Given the description of an element on the screen output the (x, y) to click on. 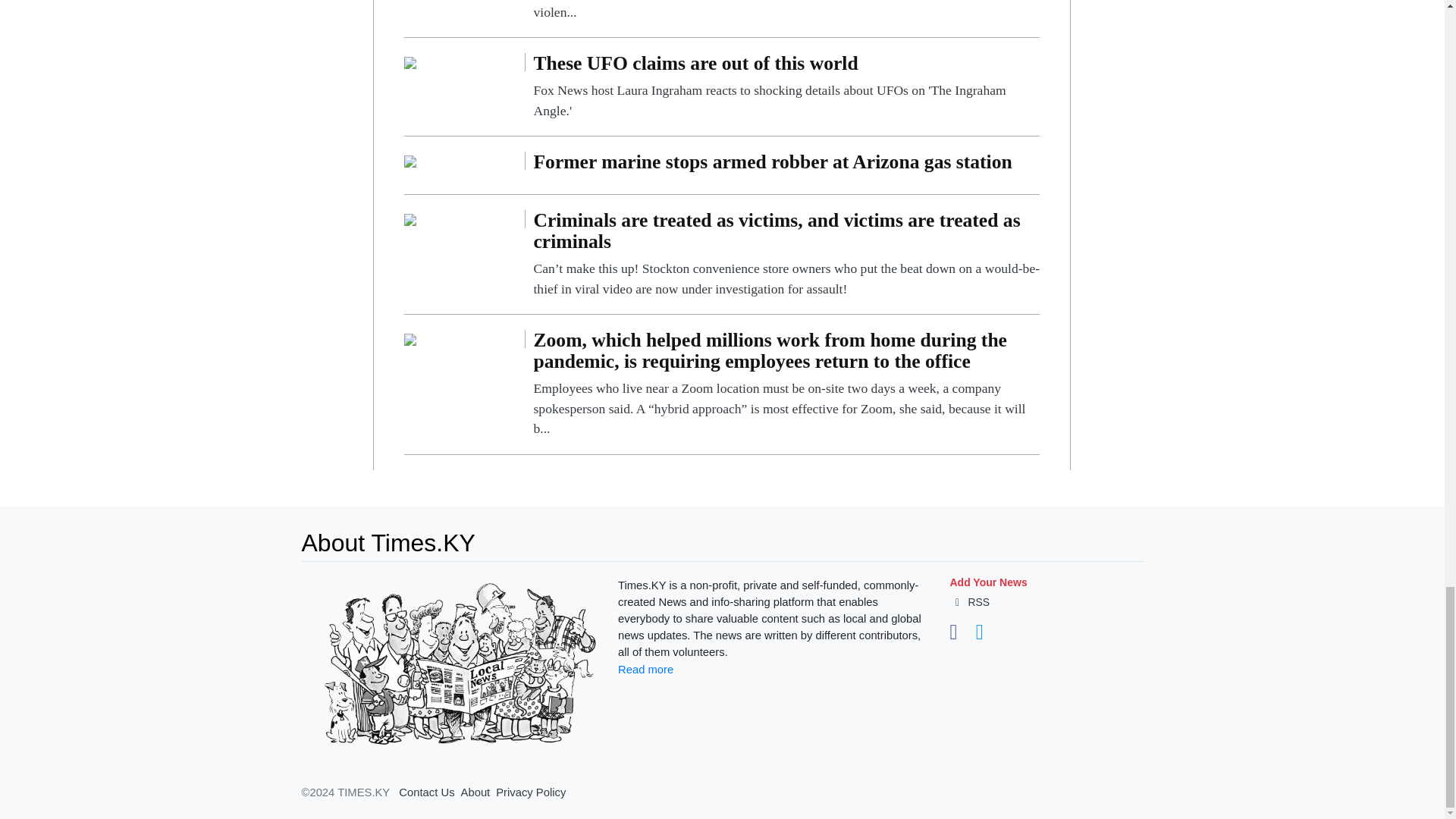
Add Your News (987, 582)
Former marine stops armed robber at Arizona gas station (410, 160)
Former marine stops armed robber at Arizona gas station (785, 165)
Read more (644, 669)
These UFO claims are out of this world (410, 61)
Former marine stops armed robber at Arizona gas station (785, 165)
RSS (969, 602)
These UFO claims are out of this world (785, 86)
